Given the description of an element on the screen output the (x, y) to click on. 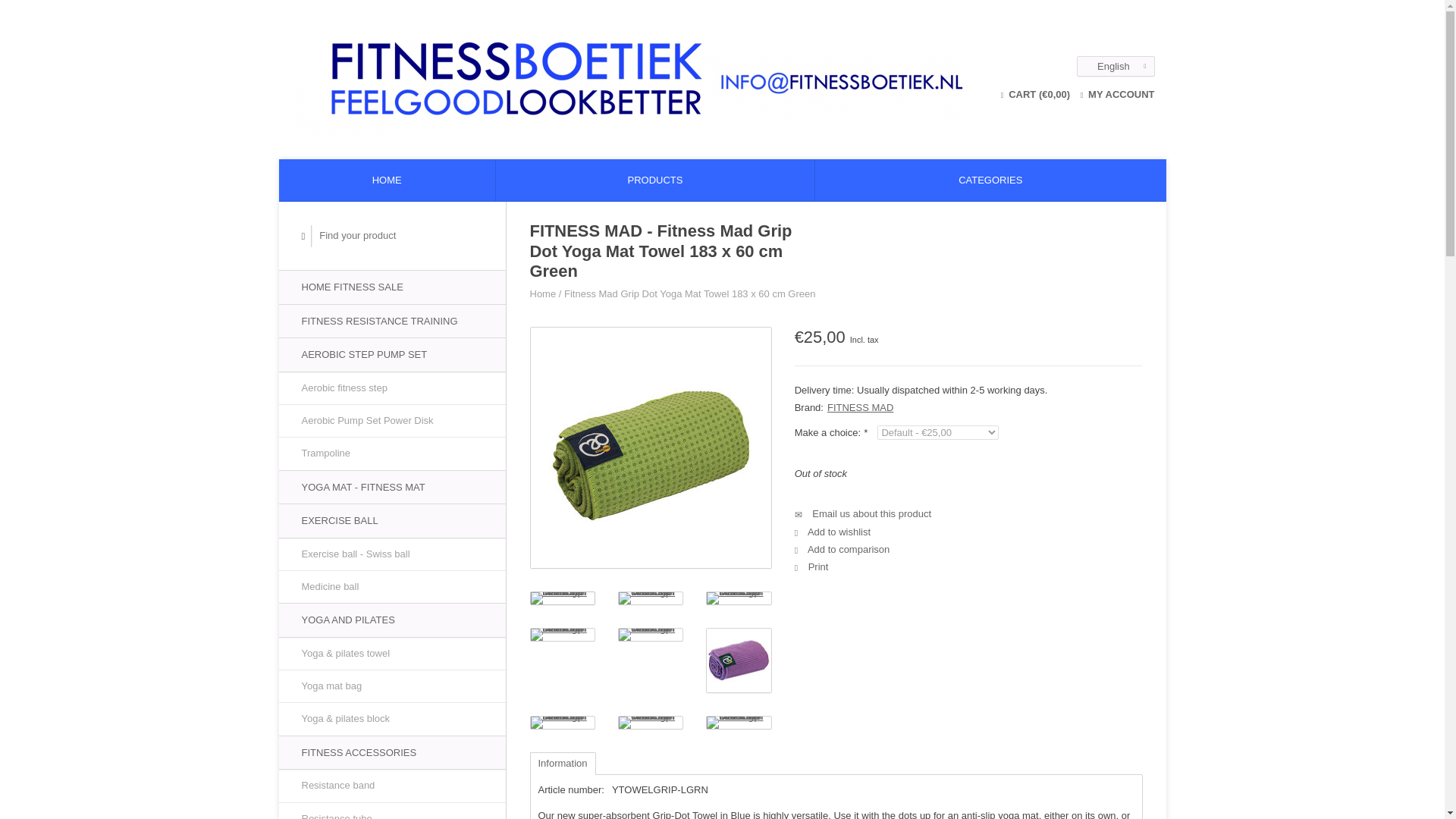
EXERCISE BALL (392, 520)
Medicine ball (392, 586)
Trampoline (392, 453)
HOME (387, 179)
AEROBIC STEP PUMP SET (392, 354)
PRODUCTS (654, 179)
HOME FITNESS SALE (392, 286)
FITNESS ACCESSORIES (392, 752)
YOGA MAT - FITNESS MAT (392, 487)
YOGA MAT - FITNESS MAT (392, 487)
